Given the description of an element on the screen output the (x, y) to click on. 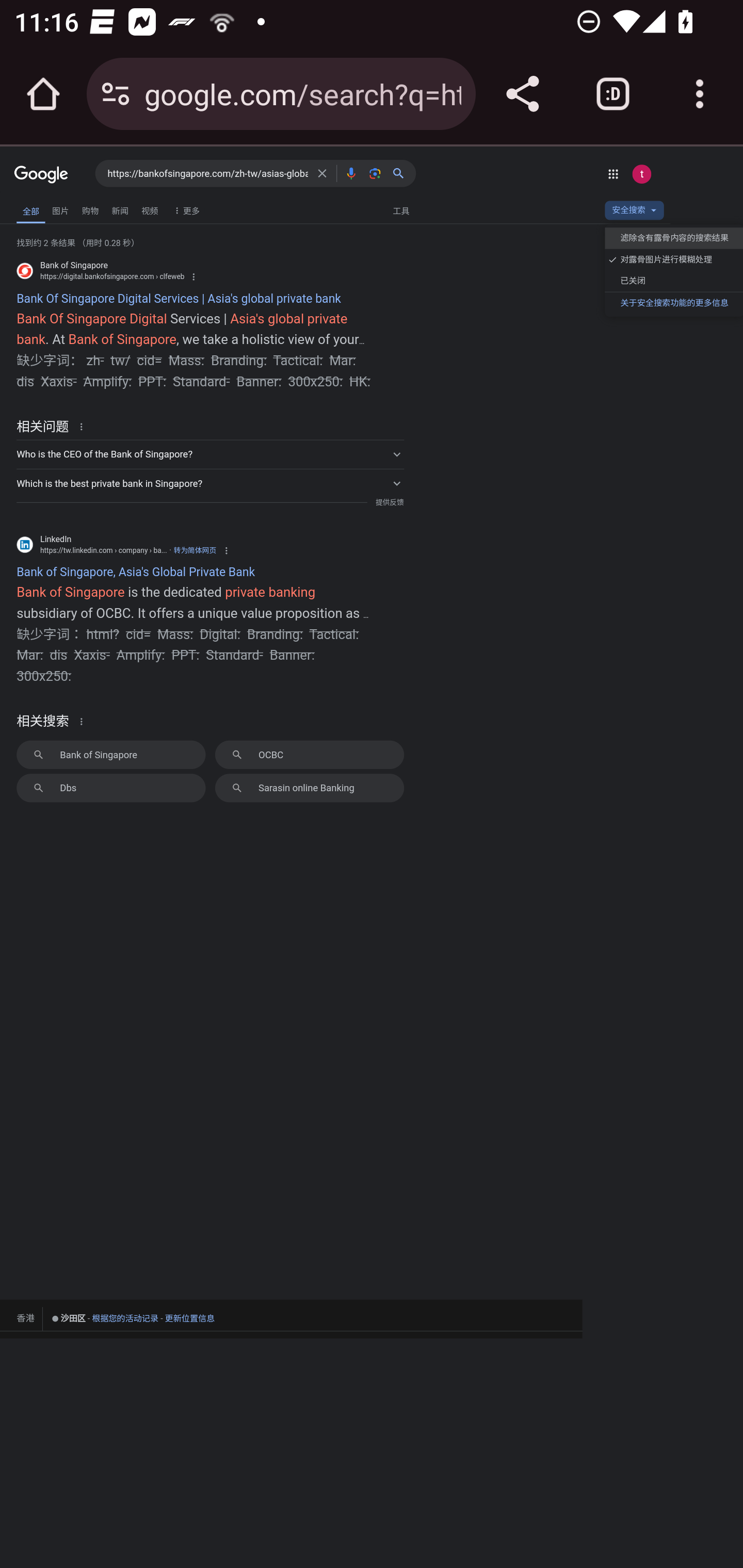
Open the home page (43, 93)
Connection is secure (115, 93)
Share (522, 93)
Switch or close tabs (612, 93)
Customize and control Google Chrome (699, 93)
清除 (321, 172)
按语音搜索 (350, 172)
按图搜索 (374, 172)
搜索 (402, 172)
Google 应用 (612, 173)
Google 账号： test appium (testappium002@gmail.com) (641, 173)
Google (41, 175)
无障碍功能反馈 (38, 206)
图片 (60, 209)
购物 (89, 209)
新闻 (119, 209)
视频 (149, 209)
更多 (184, 209)
安全搜索 (634, 212)
工具 (400, 209)
滤除含有露骨内容的搜索结果 (673, 238)
对露骨图片进行模糊处理, 已选择 (673, 260)
已关闭 (673, 280)
关于安全搜索功能的更多信息 (673, 302)
关于这条结果的详细信息 (83, 426)
Who is the CEO of the Bank of Singapore? (210, 454)
Which is the best private bank in Singapore? (210, 483)
提供反馈 (389, 502)
转为简体网页 (194, 550)
关于这条结果的详细信息 (83, 720)
Bank of Singapore (110, 754)
OCBC (309, 754)
Dbs (110, 787)
Sarasin online Banking (309, 787)
沙田区  - 根据您的活动记录 (104, 1318)
更新位置信息 (189, 1318)
